Given the description of an element on the screen output the (x, y) to click on. 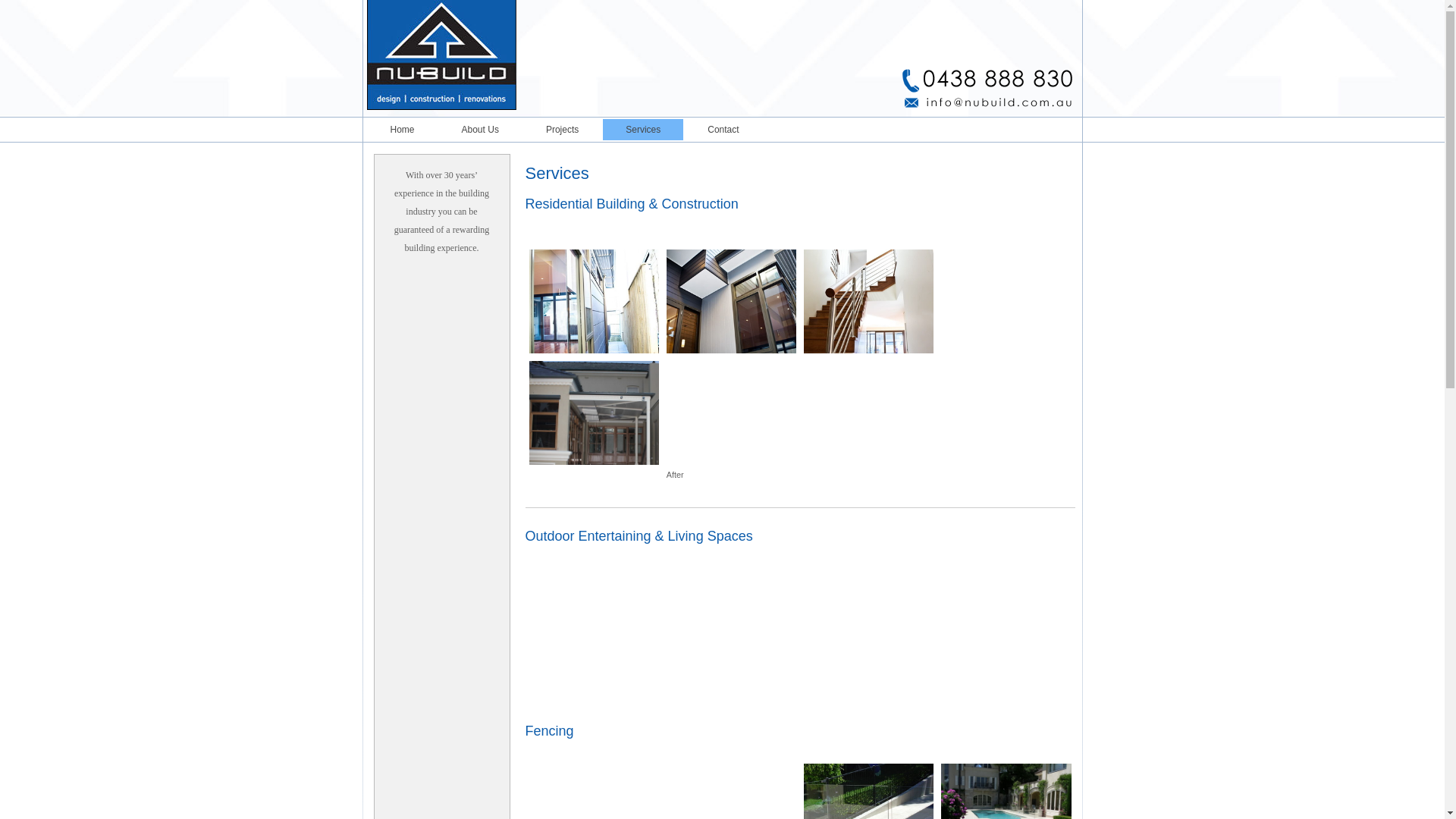
Services Element type: text (642, 129)
Home Element type: text (401, 129)
Projects Element type: text (562, 129)
About Us Element type: text (480, 129)
Contact Element type: text (722, 129)
